Given the description of an element on the screen output the (x, y) to click on. 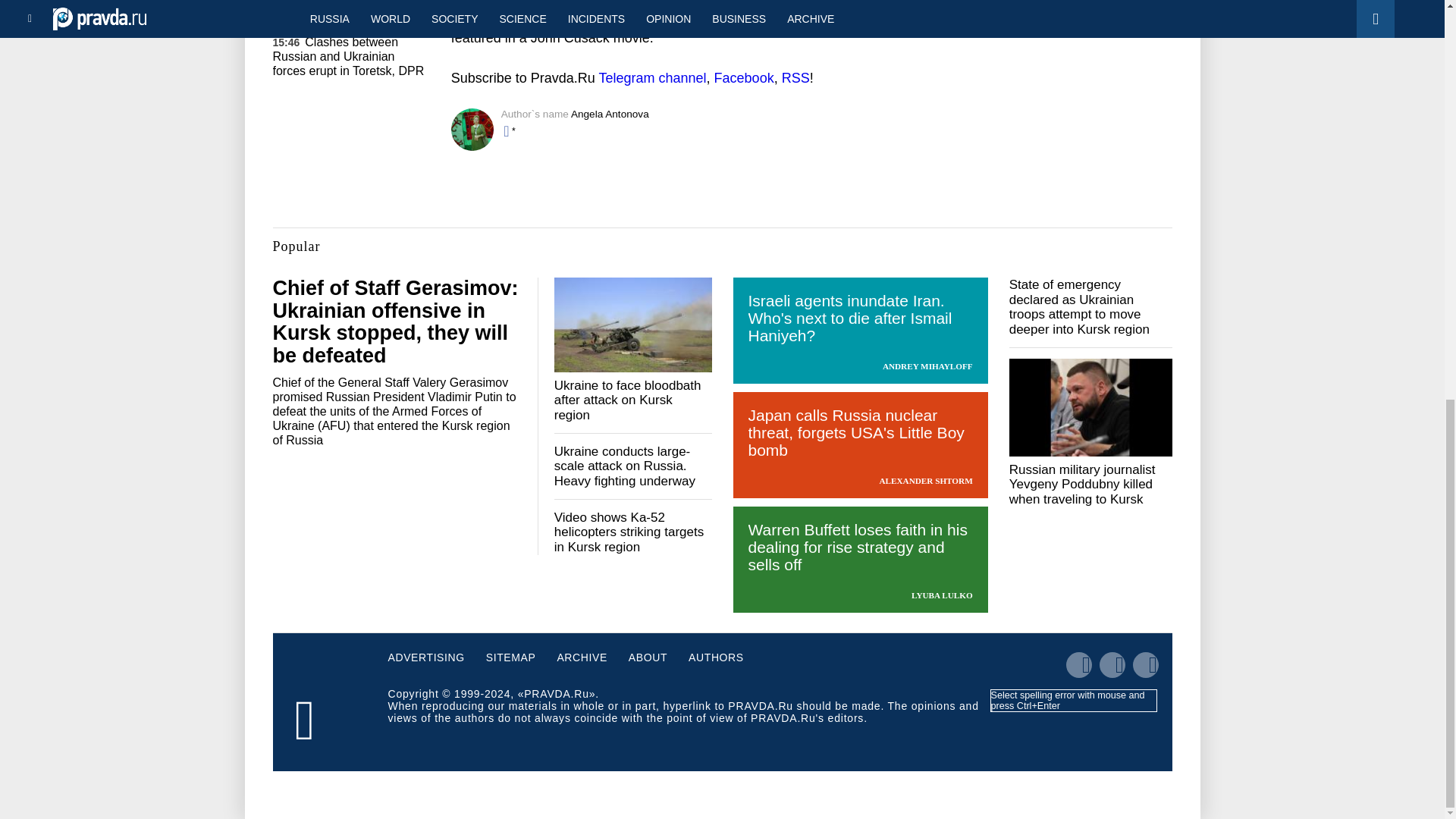
Angela Antonova (609, 113)
Back to top (1418, 118)
RSS (795, 77)
Telegram channel (652, 77)
Facebook (744, 77)
Ukrainian general: We are being betrayed, to put it mildly (349, 2)
